Given the description of an element on the screen output the (x, y) to click on. 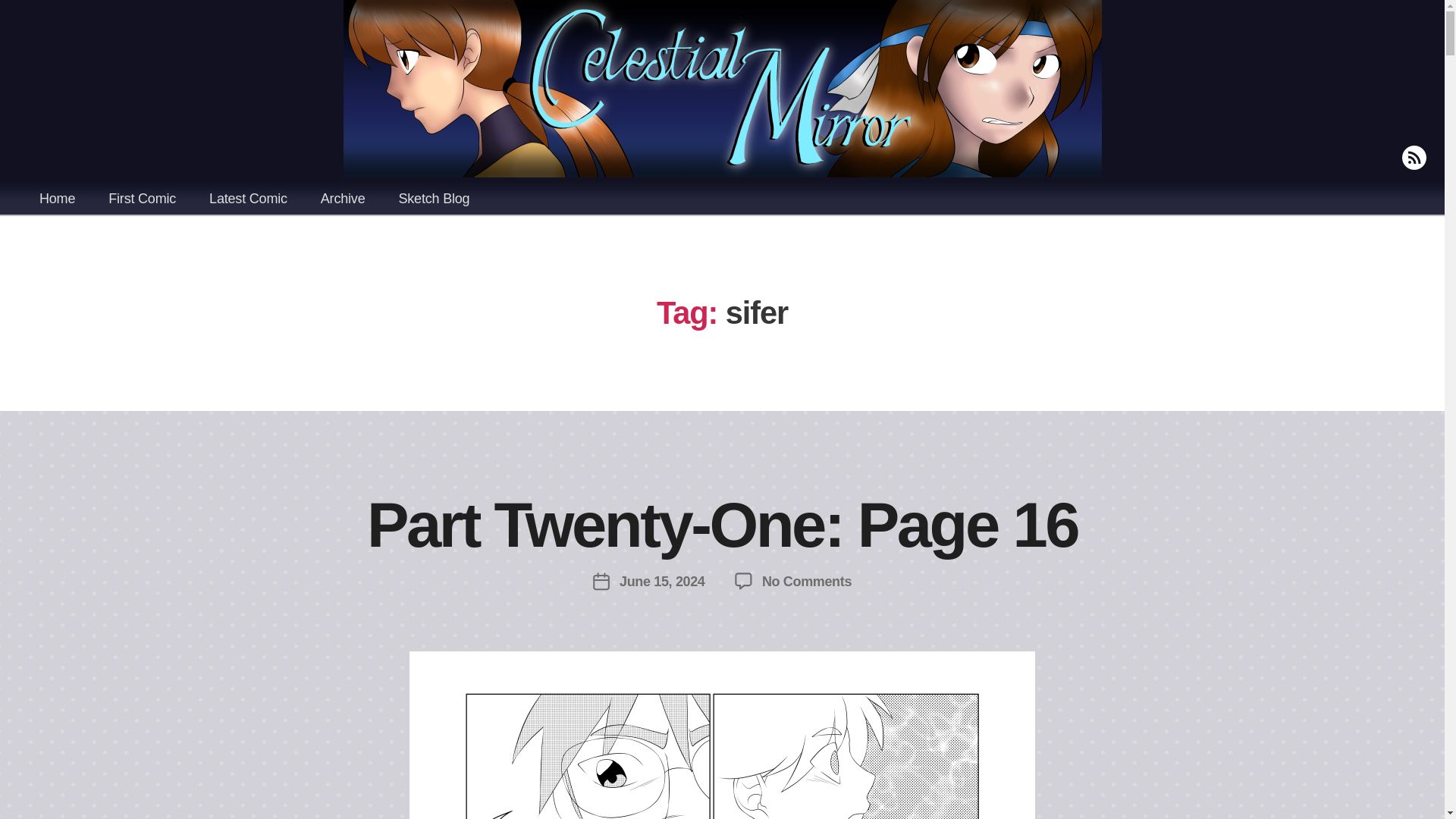
First Comic (141, 197)
Sketch Blog (806, 581)
Latest Comic (433, 197)
Home (248, 197)
Part Twenty-One: Page 16 (57, 197)
June 15, 2024 (721, 524)
Archive (662, 581)
